Given the description of an element on the screen output the (x, y) to click on. 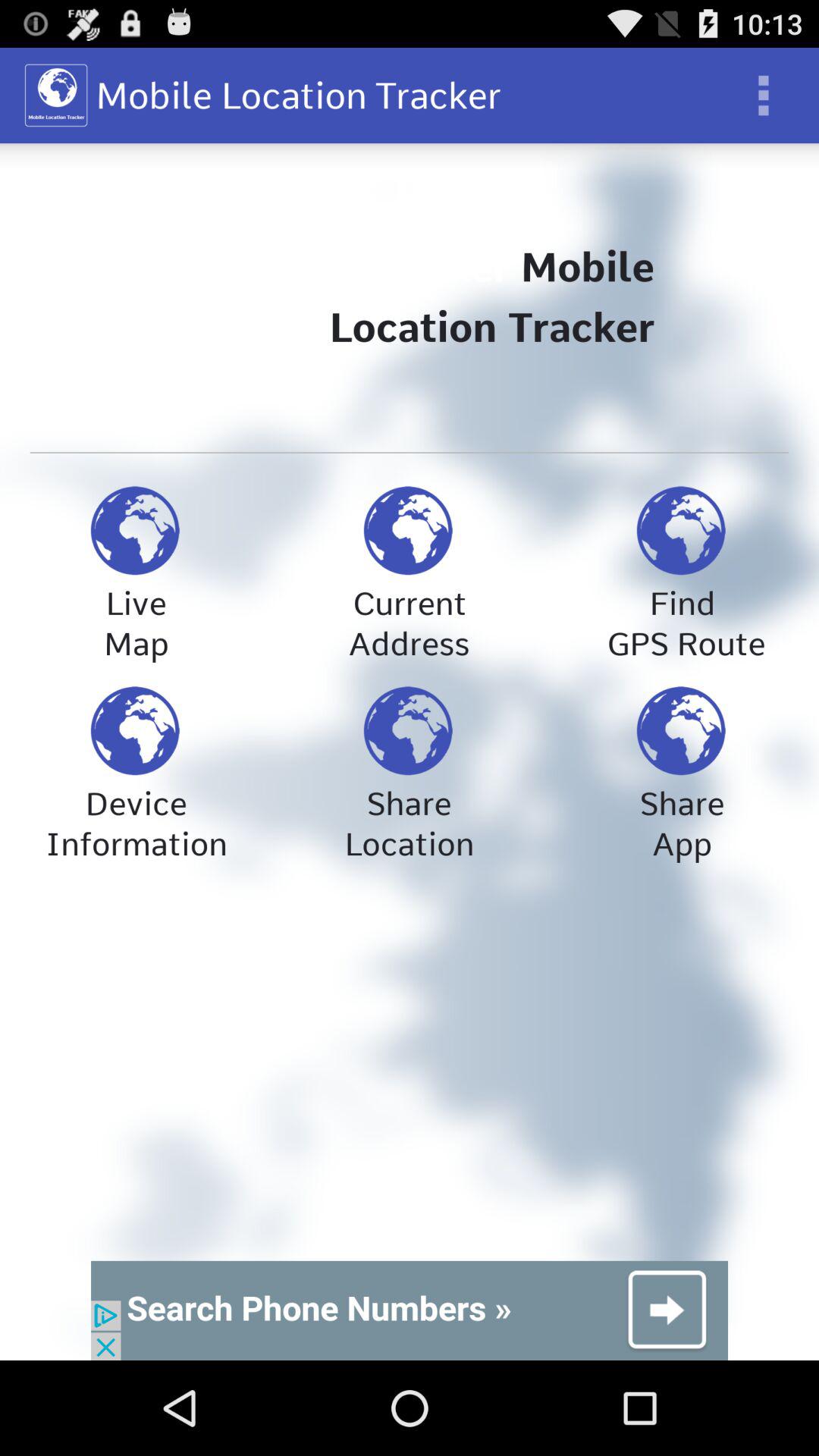
advertisement banner (409, 1310)
